Given the description of an element on the screen output the (x, y) to click on. 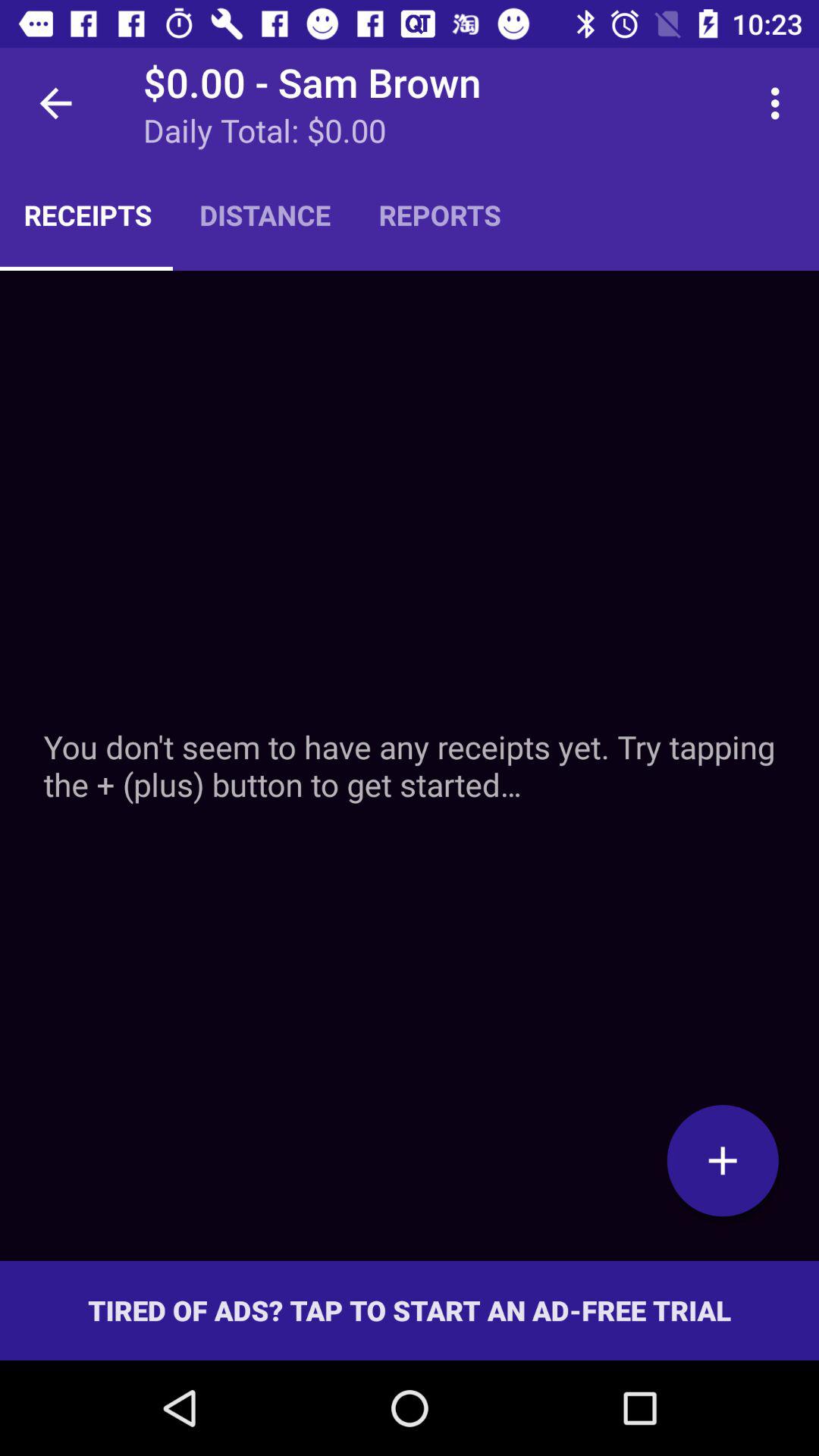
add receipt (409, 765)
